Given the description of an element on the screen output the (x, y) to click on. 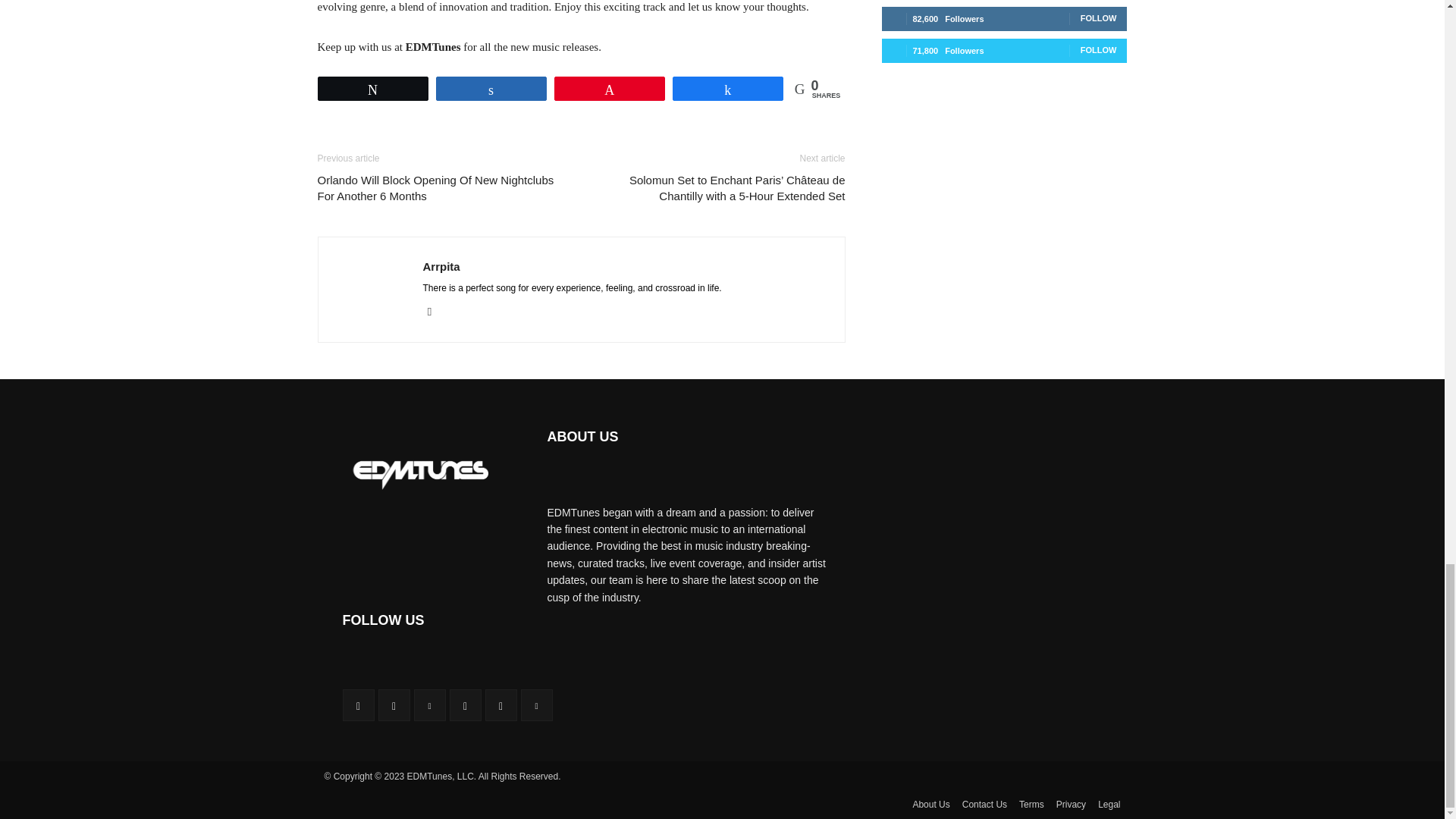
Facebook (358, 705)
Instagram (435, 312)
